Given the description of an element on the screen output the (x, y) to click on. 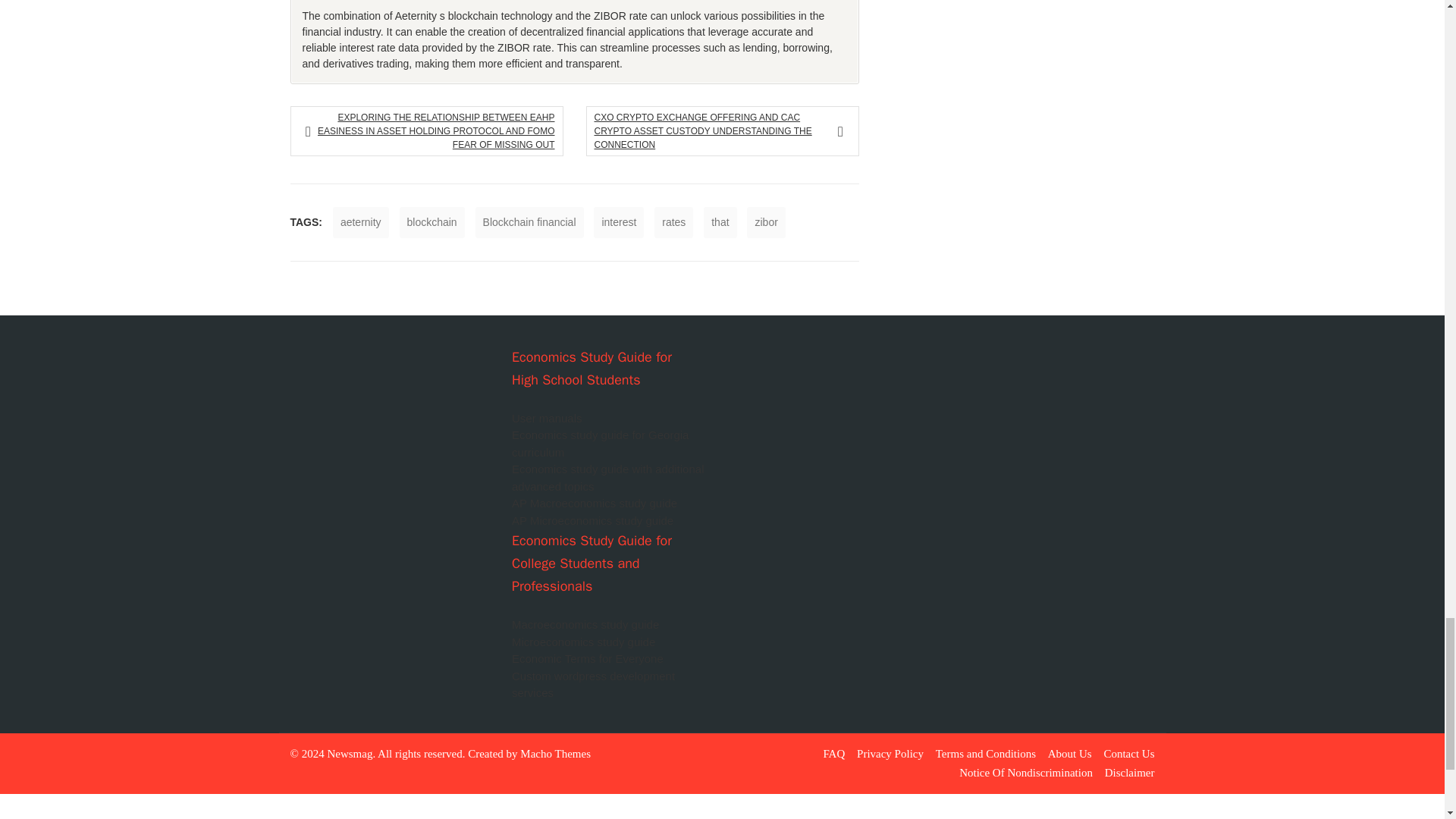
zibor (765, 222)
aeternity (360, 222)
that (719, 222)
rates (673, 222)
Professional WordPress Themes (555, 753)
blockchain (431, 222)
interest (618, 222)
Blockchain financial (529, 222)
